Given the description of an element on the screen output the (x, y) to click on. 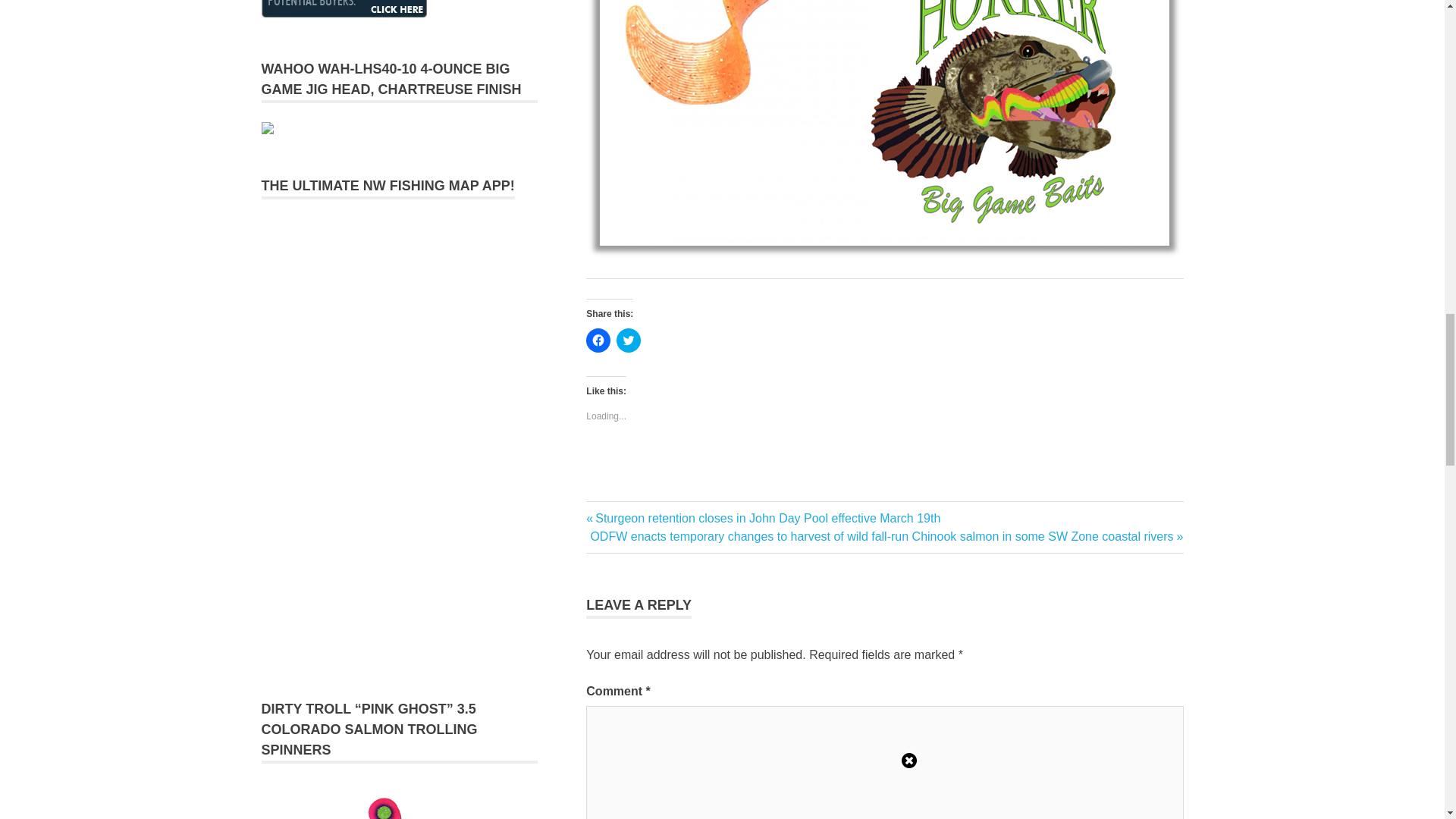
Click to share on Facebook (598, 340)
Click to share on Twitter (627, 340)
Like or Reblog (884, 467)
Dirty Troll "Pink Ghost" 3.5 Trolling Spinners (373, 800)
